Given the description of an element on the screen output the (x, y) to click on. 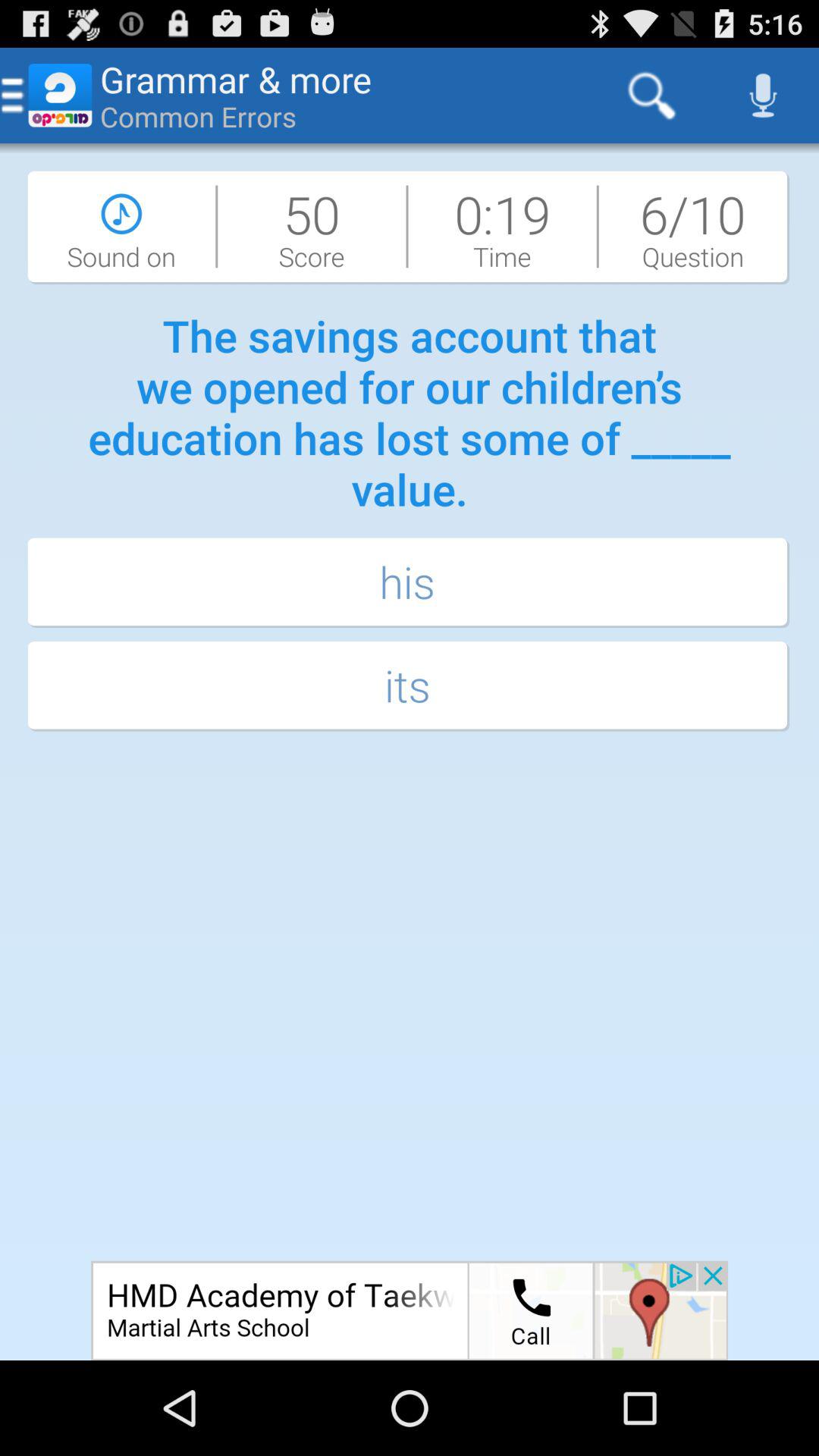
swipe to the his (409, 583)
